Given the description of an element on the screen output the (x, y) to click on. 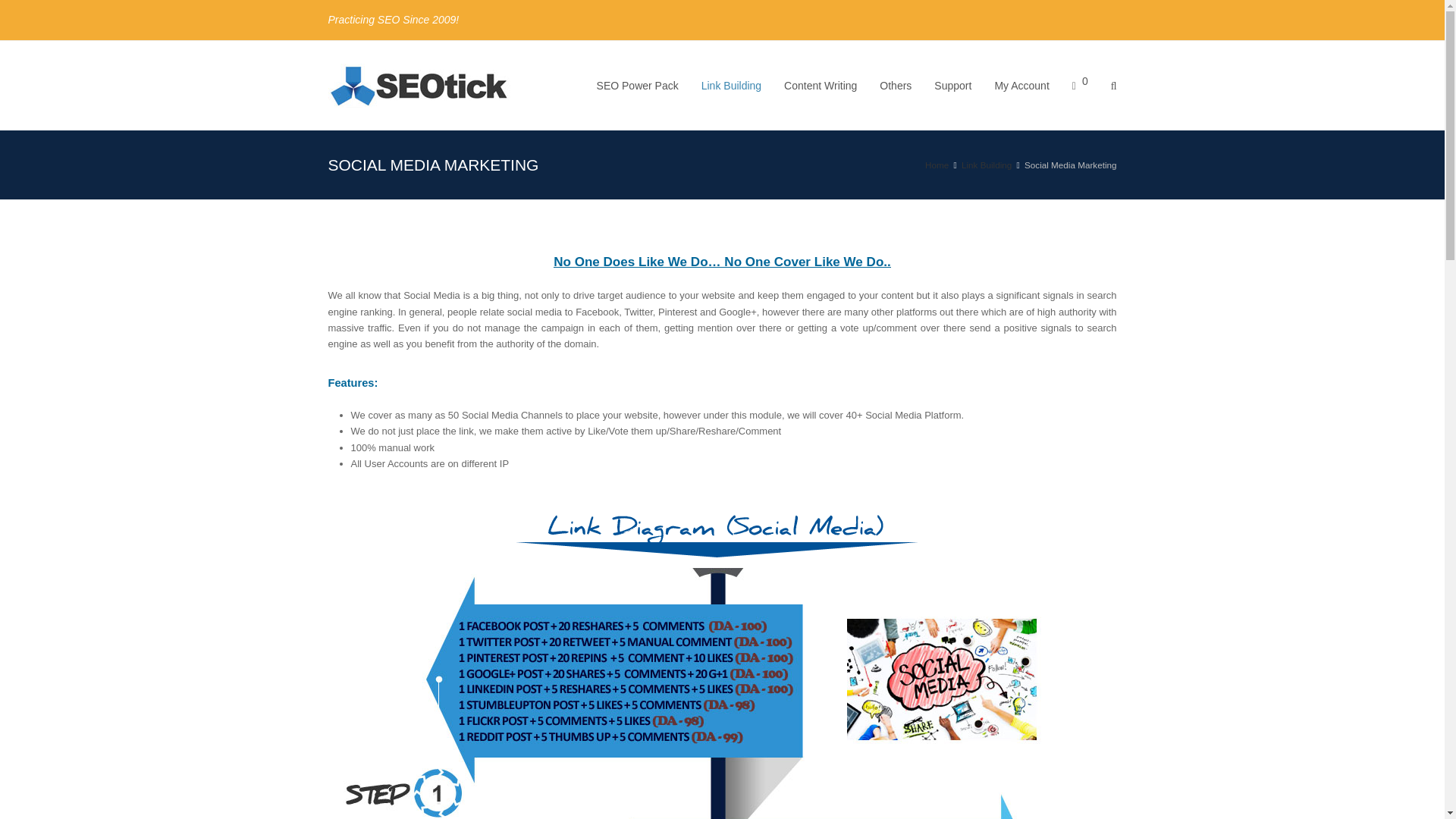
SEO Power Pack (637, 85)
Home (936, 164)
Link Building (985, 164)
Link Building (985, 164)
My Account (1020, 85)
Link Building (731, 85)
Your Cart (1080, 85)
SEOtick (418, 84)
0 (1080, 85)
SEOtick (936, 164)
Others (895, 85)
Support (952, 85)
Content Writing (820, 85)
